Given the description of an element on the screen output the (x, y) to click on. 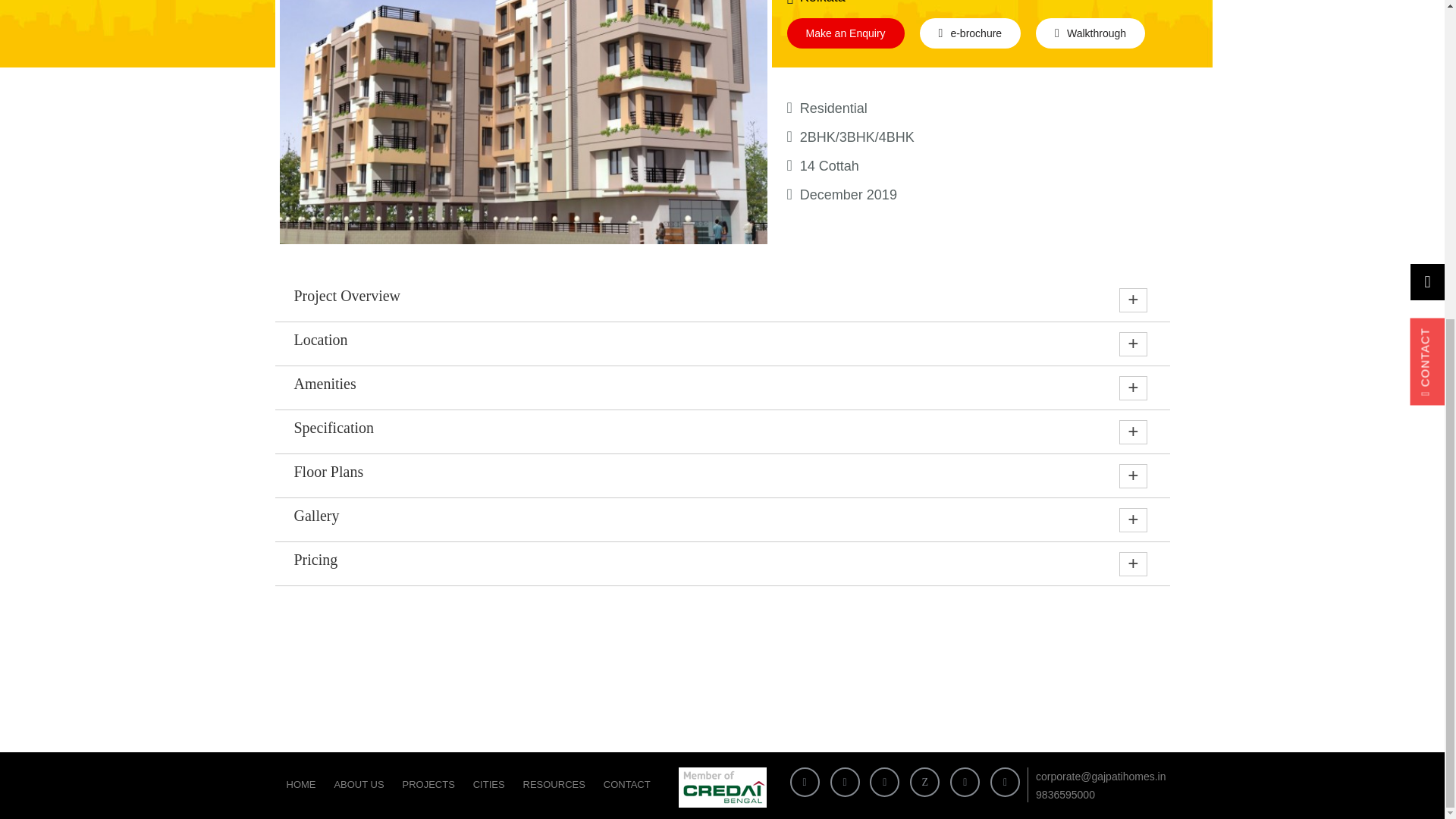
ABOUT US (358, 784)
Walkthrough (1089, 33)
Linkedin (884, 781)
e-brochure (971, 33)
Youtube (1005, 781)
Pinterest (964, 781)
PROJECTS (427, 784)
Make an Enquiry (845, 33)
HOME (301, 784)
Zumvu (924, 781)
